Given the description of an element on the screen output the (x, y) to click on. 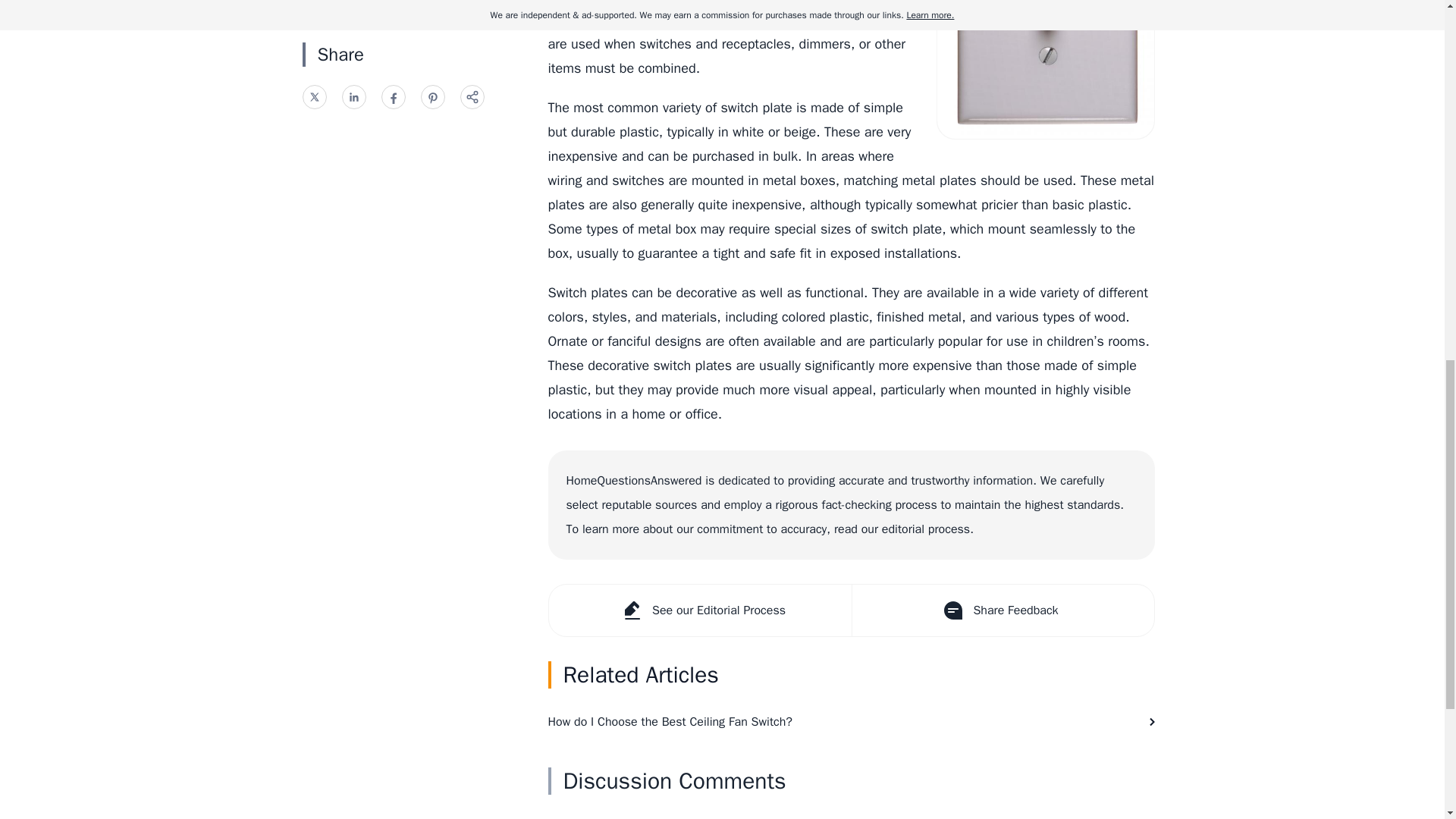
How do I Choose the Best Ceiling Fan Switch? (850, 721)
See our Editorial Process (699, 610)
Share Feedback (1001, 610)
